Given the description of an element on the screen output the (x, y) to click on. 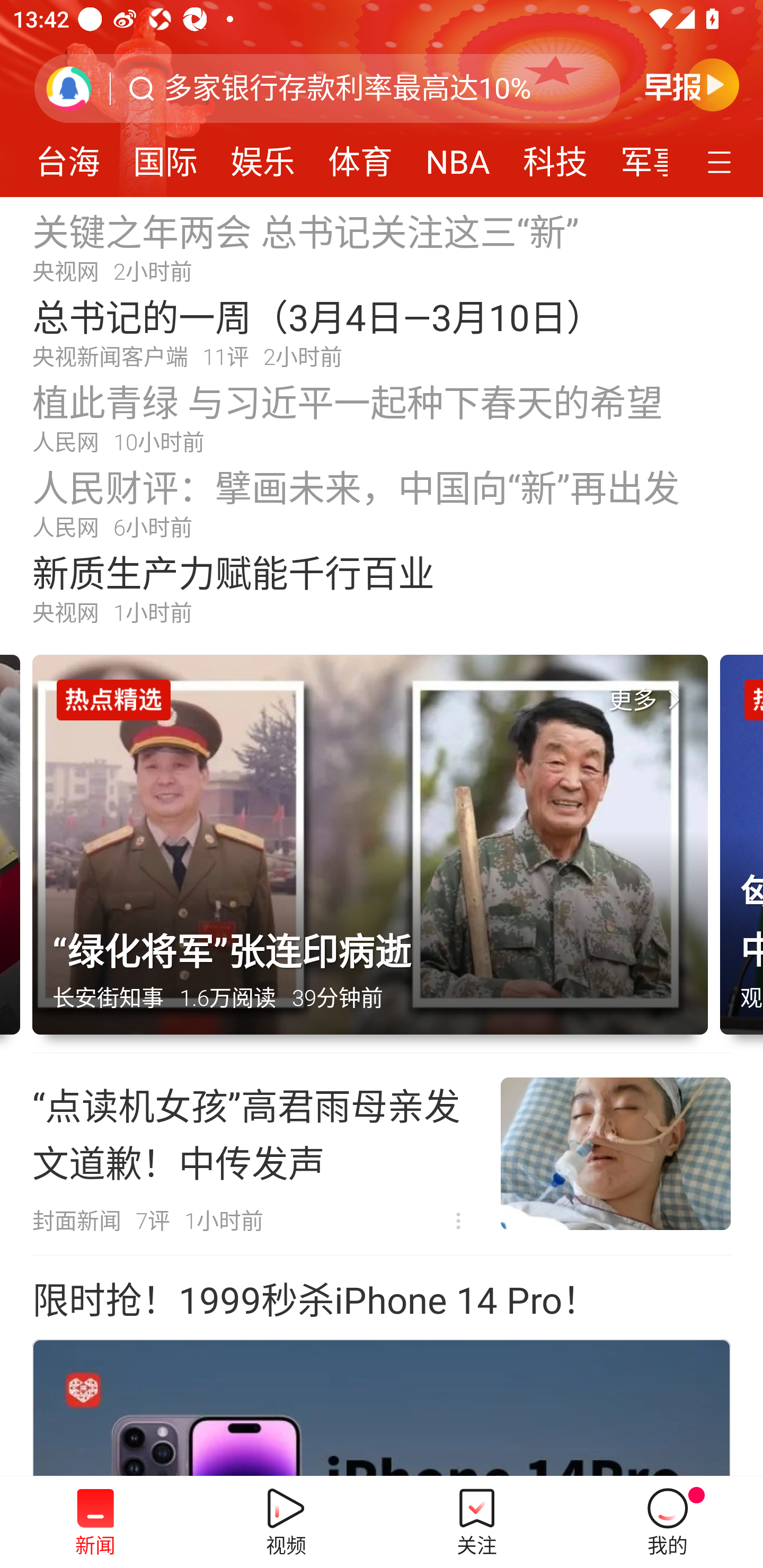
腾讯新闻 (381, 98)
早晚报 (691, 84)
刷新 (68, 88)
多家银行存款利率最高达10% (347, 88)
台海 (67, 155)
国际 (165, 155)
娱乐 (262, 155)
体育 (359, 155)
NBA (457, 155)
科技 (555, 155)
 定制频道 (721, 160)
关键之年两会 总书记关注这三“新” 央视网 2小时前 (381, 245)
总书记的一周（3月4日—3月10日） 央视新闻客户端 11评 2小时前 (381, 331)
植此青绿 与习近平一起种下春天的希望 人民网 10小时前 (381, 416)
人民财评：擘画未来，中国向“新”再出发 人民网 6小时前 (381, 502)
新质生产力赋能千行百业 央视网 1小时前 (381, 587)
更多  “绿化将军”张连印病逝 长安街知事   1.6万阅读   39分钟前 (376, 853)
更多  (648, 699)
“点读机女孩”高君雨母亲发文道歉！中传发声 封面新闻 7评 1小时前  不感兴趣 (381, 1153)
 不感兴趣 (458, 1221)
限时抢！1999秒杀iPhone 14 Pro！ (315, 1301)
